Given the description of an element on the screen output the (x, y) to click on. 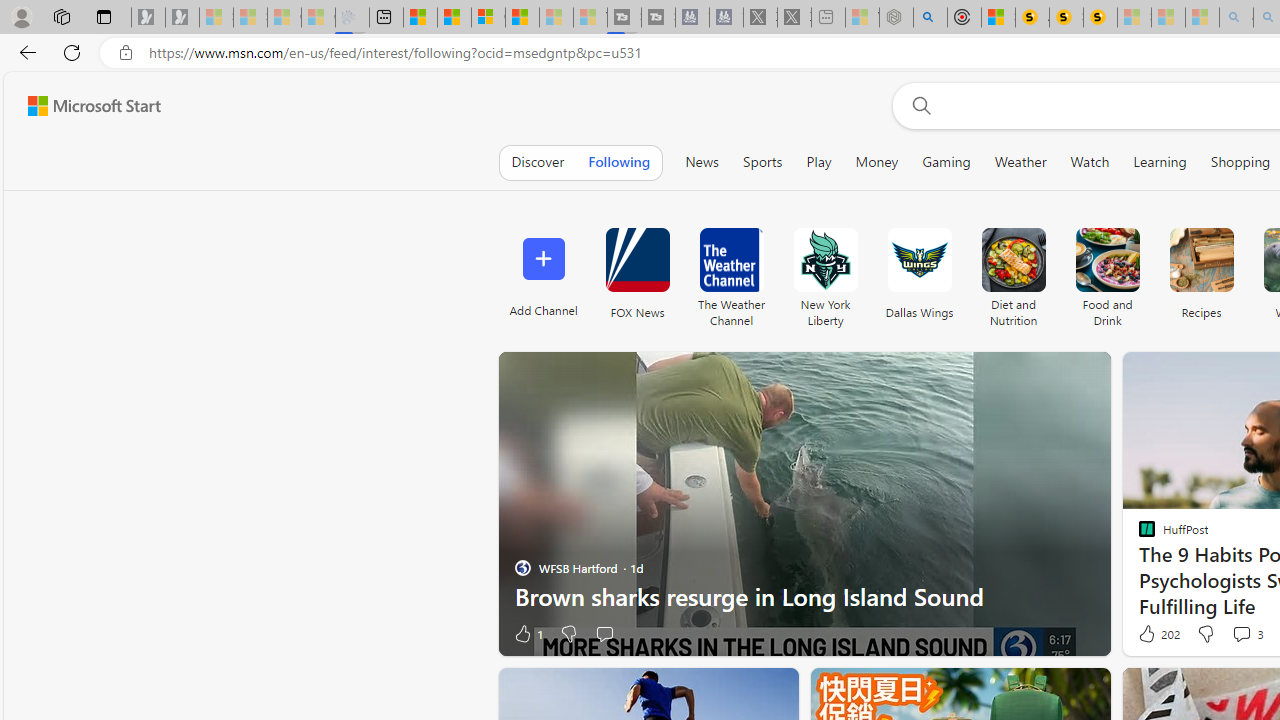
Skip to footer (82, 105)
Microsoft Start - Sleeping (556, 17)
Start the conversation (603, 633)
Weather (1020, 161)
Recipes (1200, 272)
1 Like (527, 633)
Dislike (1204, 633)
amazon - Search - Sleeping (1236, 17)
The Weather Channel (731, 272)
